Given the description of an element on the screen output the (x, y) to click on. 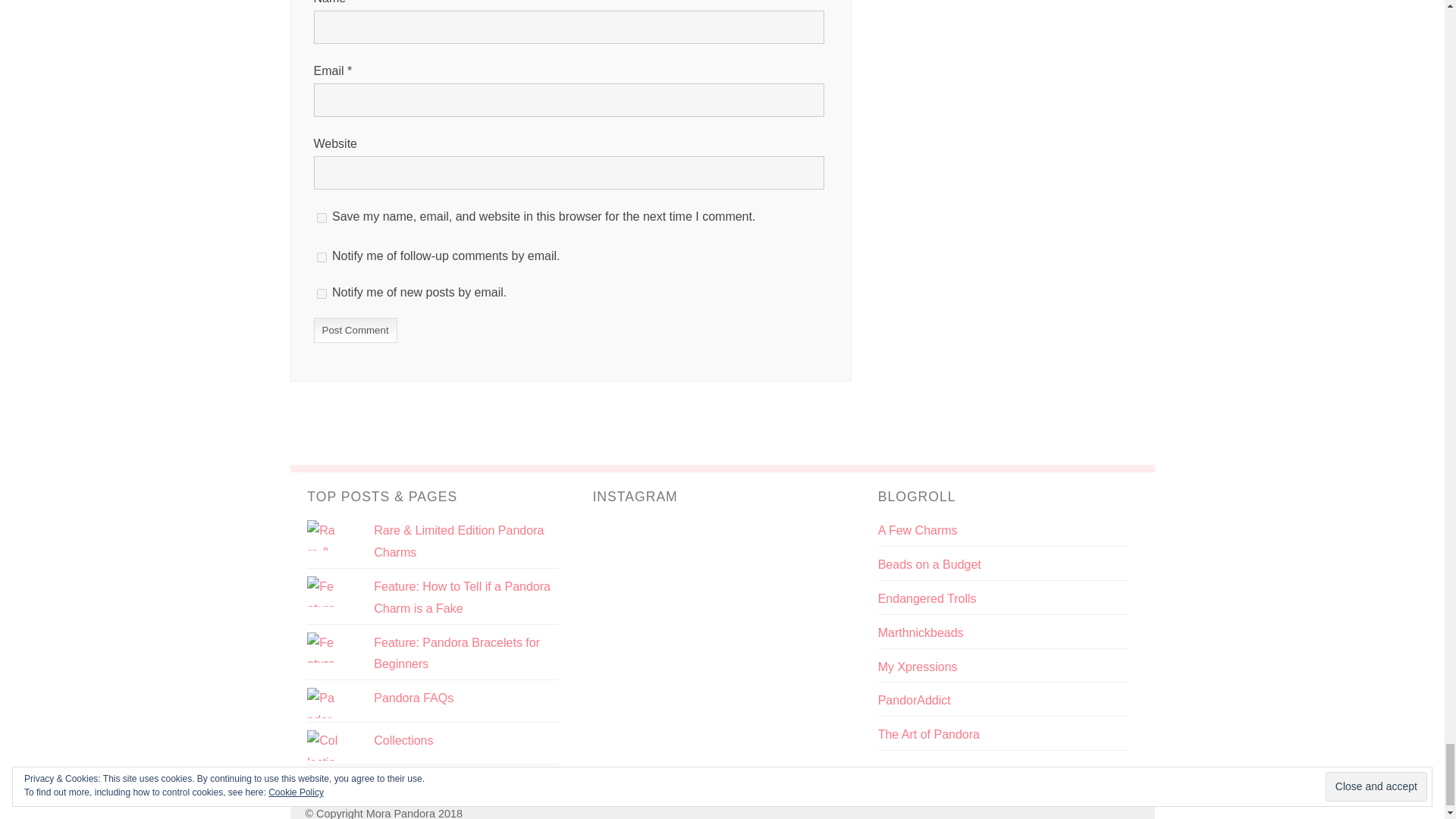
yes (321, 216)
subscribe (321, 293)
Post Comment (355, 329)
subscribe (321, 256)
